Given the description of an element on the screen output the (x, y) to click on. 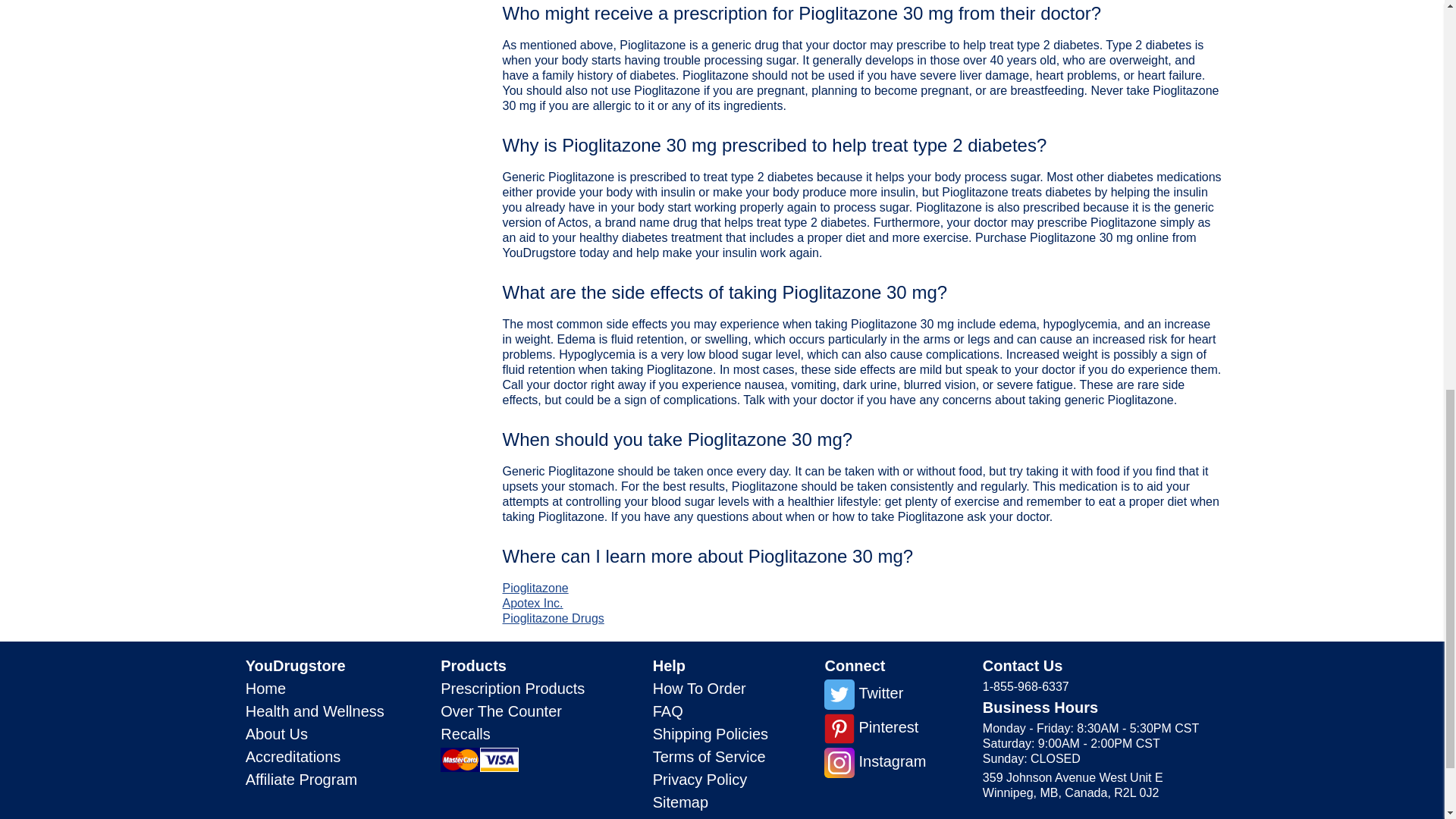
Pioglitazone Drugs (553, 617)
Apotex Inc. (532, 603)
Pioglitazone (534, 587)
